Given the description of an element on the screen output the (x, y) to click on. 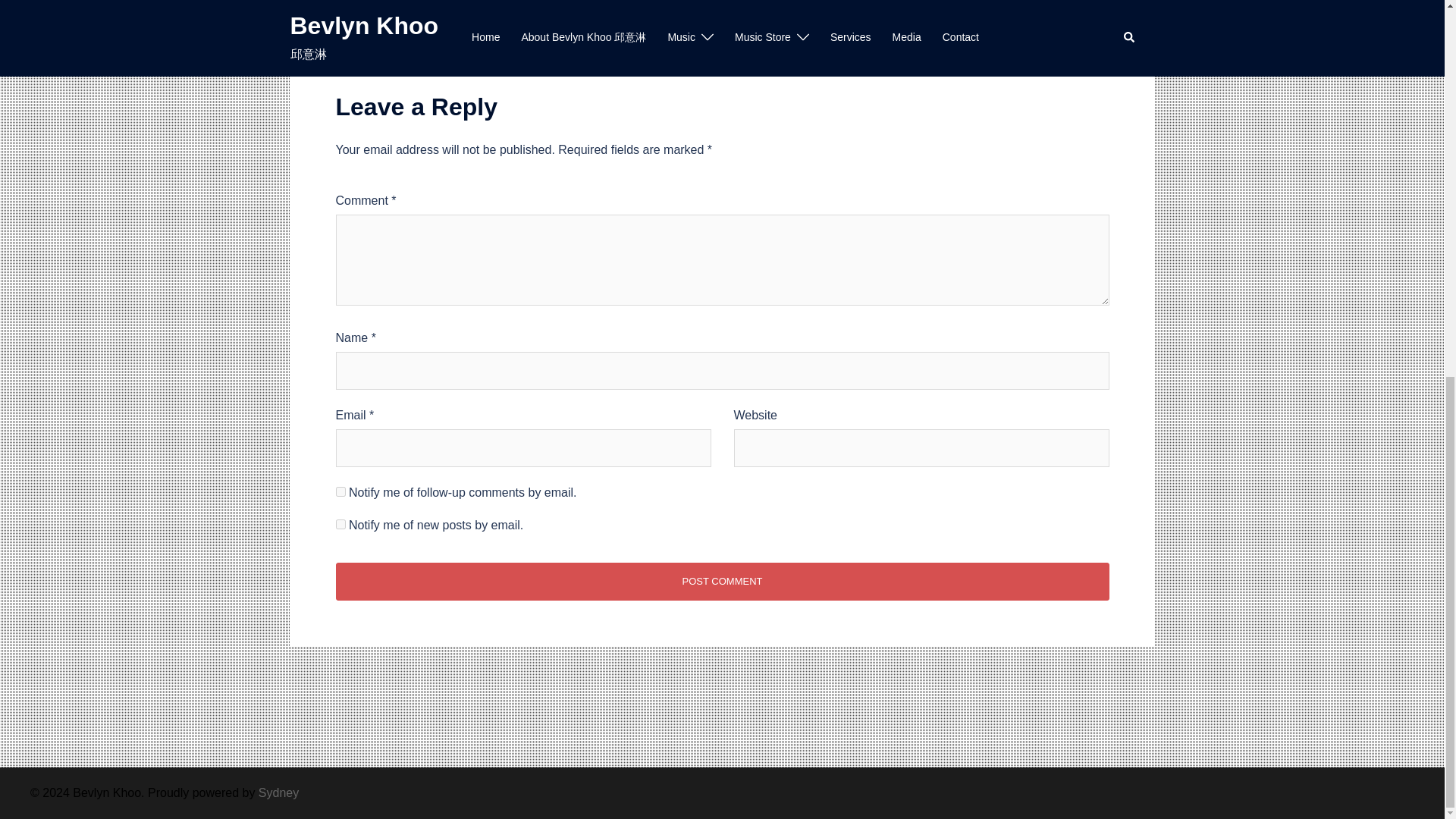
Post Comment (721, 581)
subscribe (339, 524)
subscribe (339, 491)
